Given the description of an element on the screen output the (x, y) to click on. 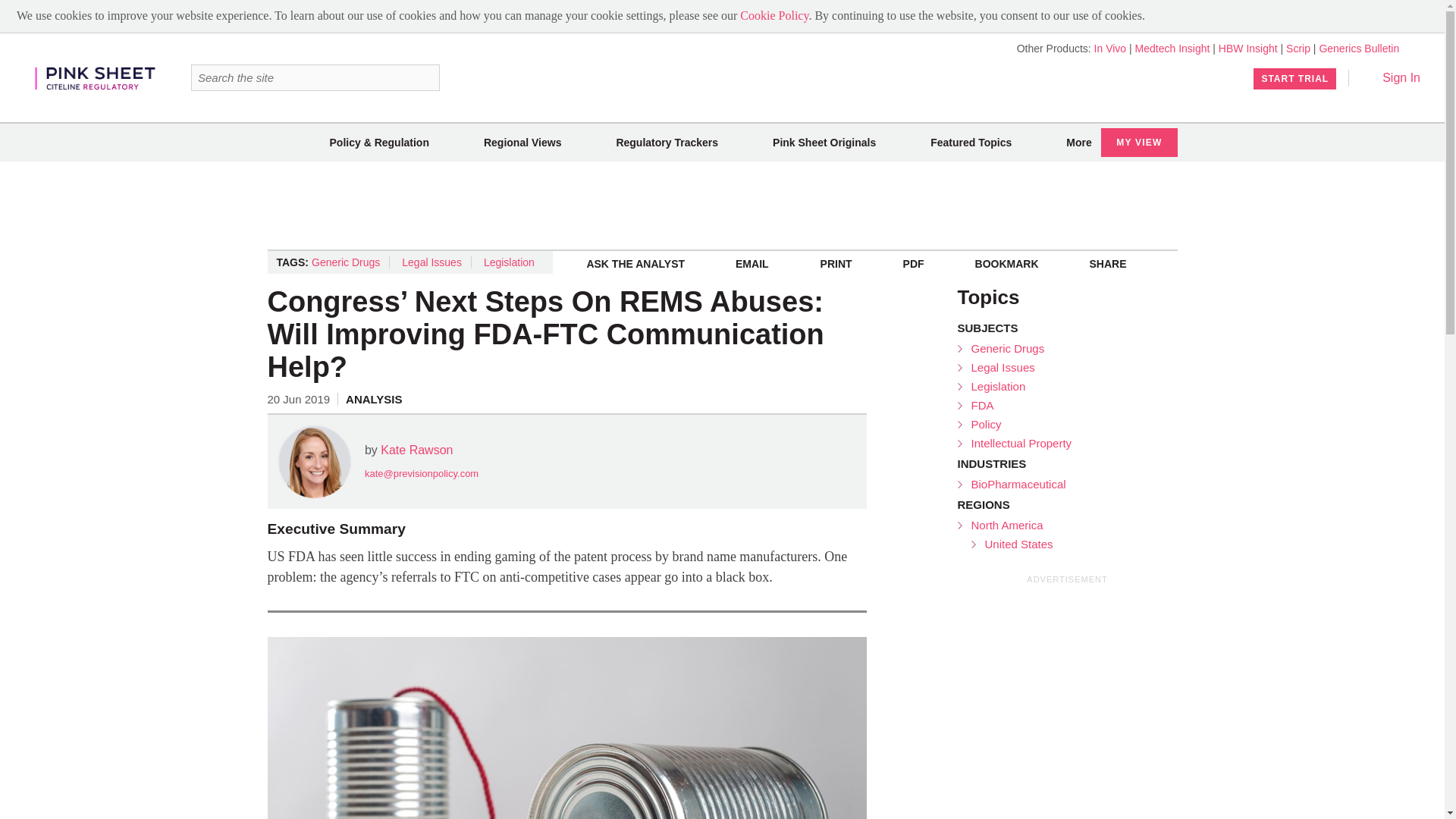
HBW Insight (1248, 48)
3rd party ad content (1070, 703)
Generics Bulletin (1359, 48)
3rd party ad content (721, 205)
Sign In (1391, 77)
In Vivo (1110, 48)
Cookie Policy (773, 15)
Scrip (1297, 48)
START TRIAL (1294, 78)
Medtech Insight (1172, 48)
